Given the description of an element on the screen output the (x, y) to click on. 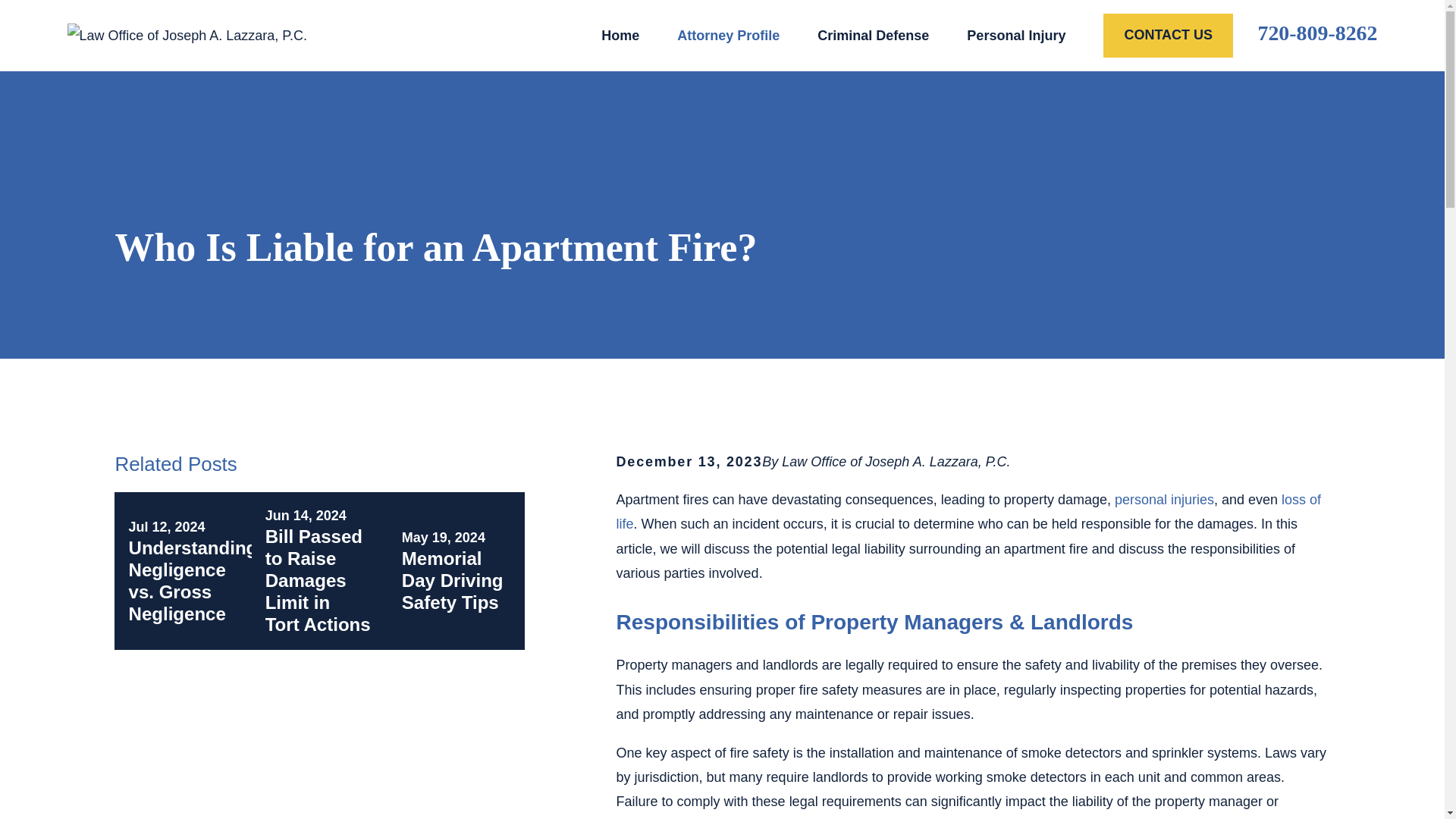
Criminal Defense (872, 35)
Home (186, 35)
Attorney Profile (727, 35)
Personal Injury (1015, 35)
